Given the description of an element on the screen output the (x, y) to click on. 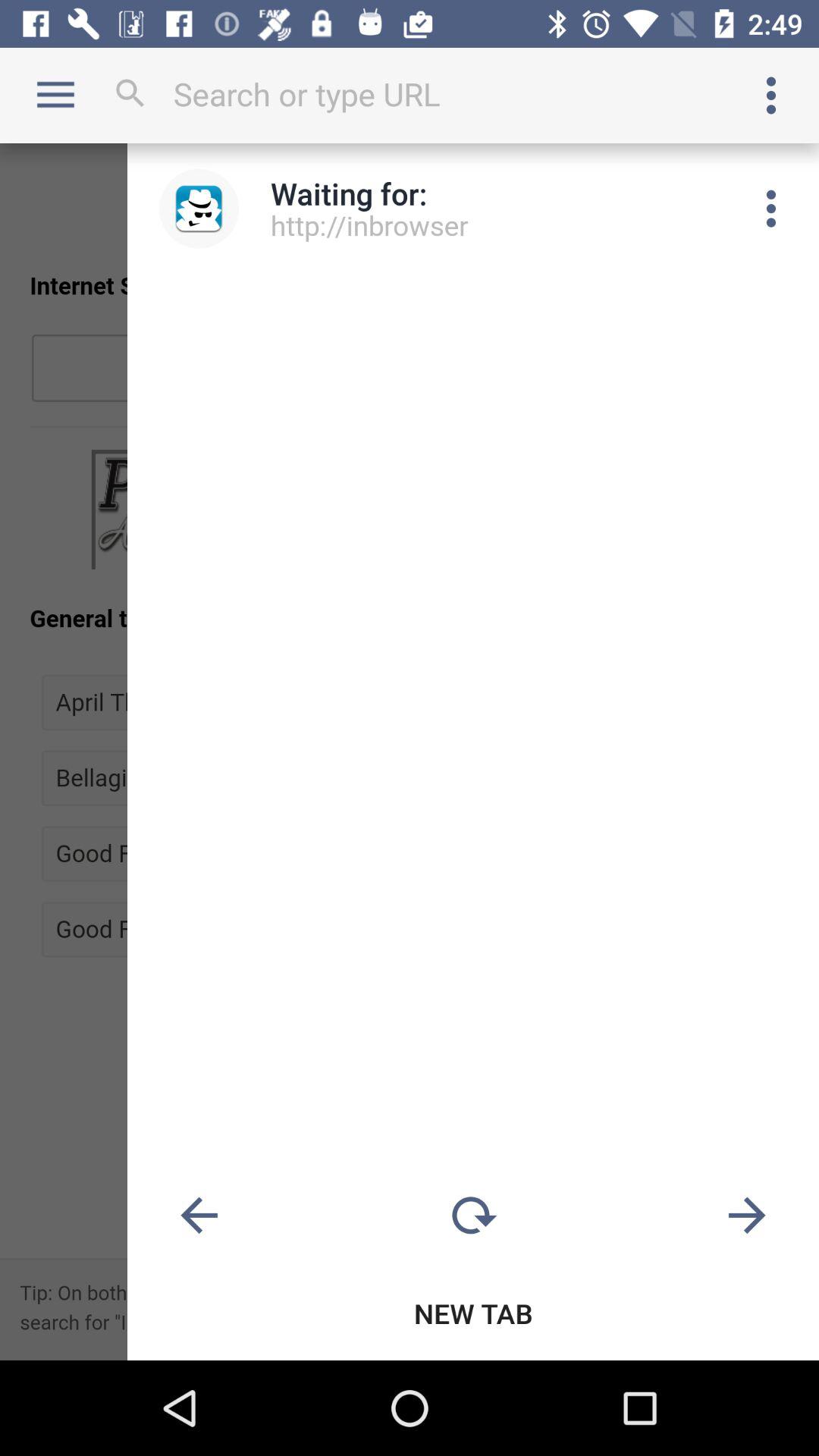
turn on the waiting for: item (348, 193)
